Given the description of an element on the screen output the (x, y) to click on. 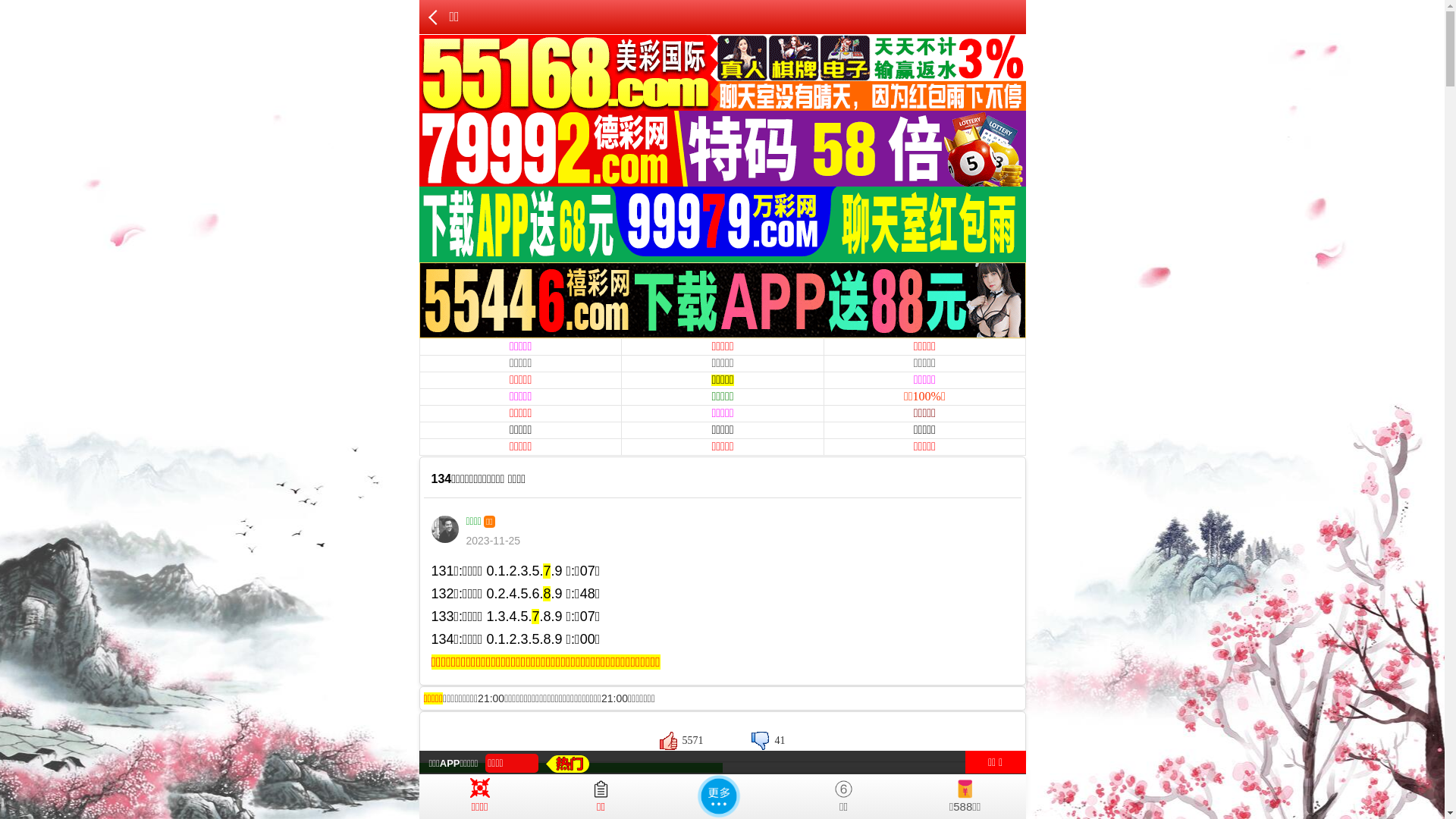
5571 Element type: text (681, 740)
41 Element type: text (767, 740)
